Given the description of an element on the screen output the (x, y) to click on. 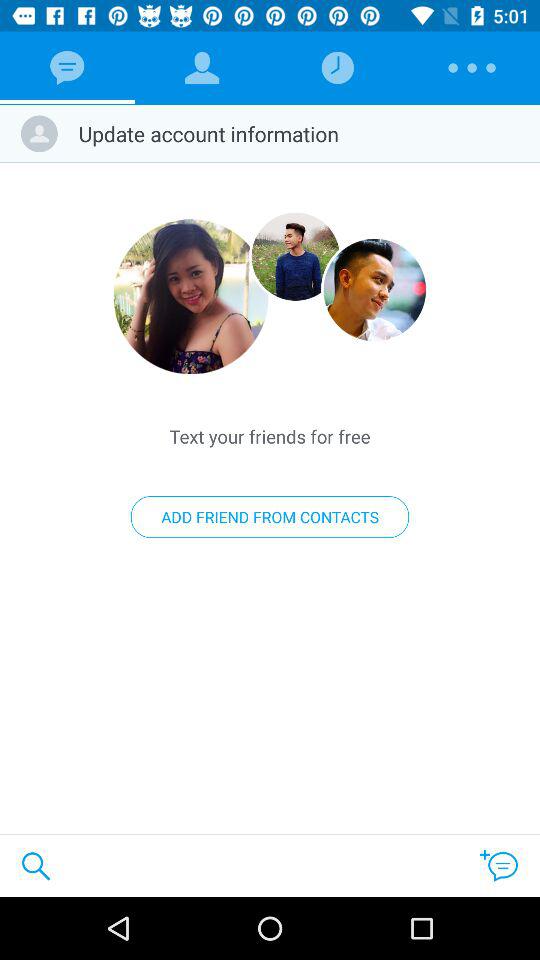
click the profile (191, 296)
